Given the description of an element on the screen output the (x, y) to click on. 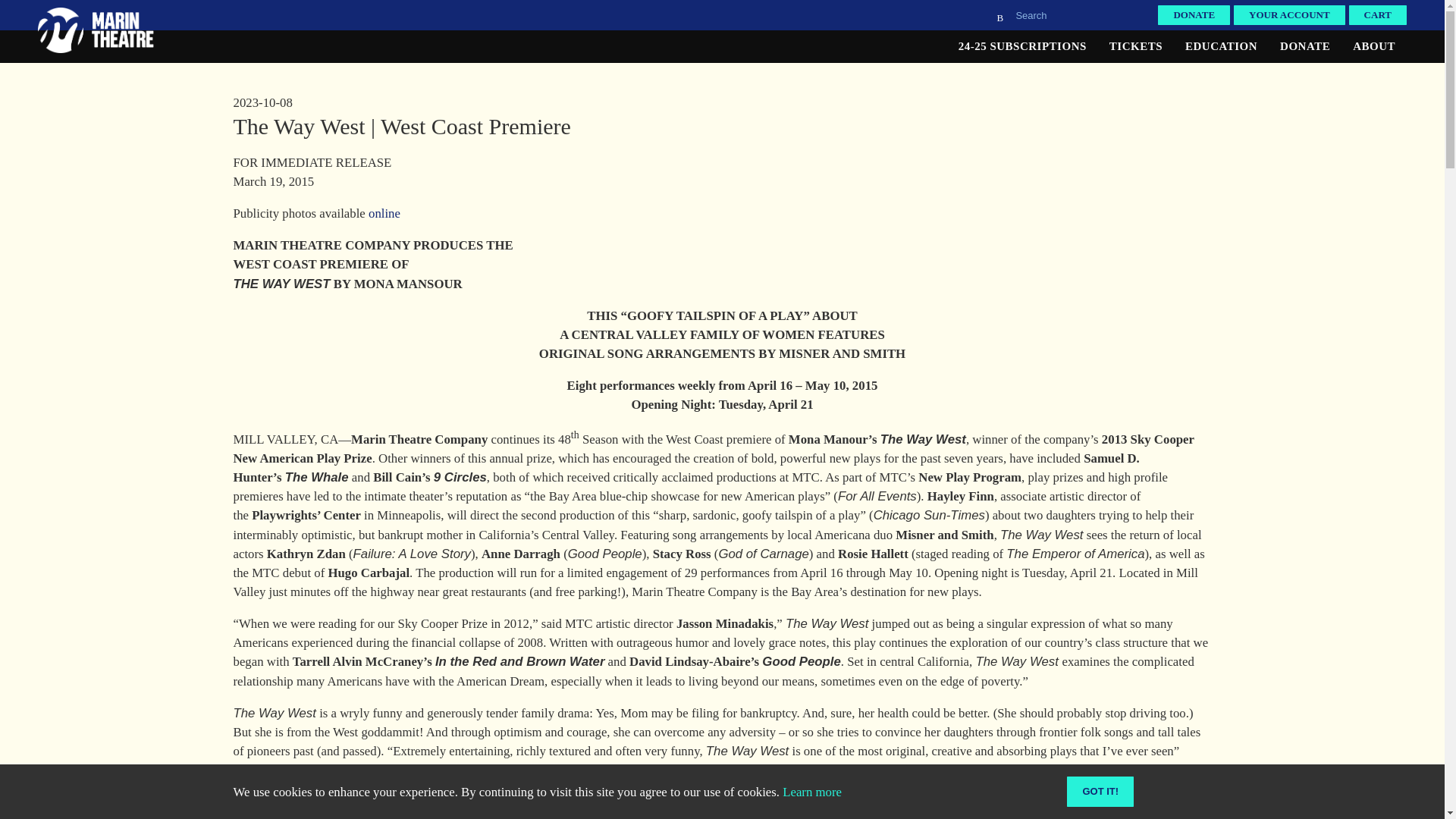
DONATE (1193, 14)
ABOUT (1373, 46)
DONATE (1304, 46)
Search entire site (1071, 15)
EDUCATION (1221, 46)
YOUR ACCOUNT (1289, 14)
CART (1377, 14)
TICKETS (1135, 46)
24-25 SUBSCRIPTIONS (1022, 46)
